Given the description of an element on the screen output the (x, y) to click on. 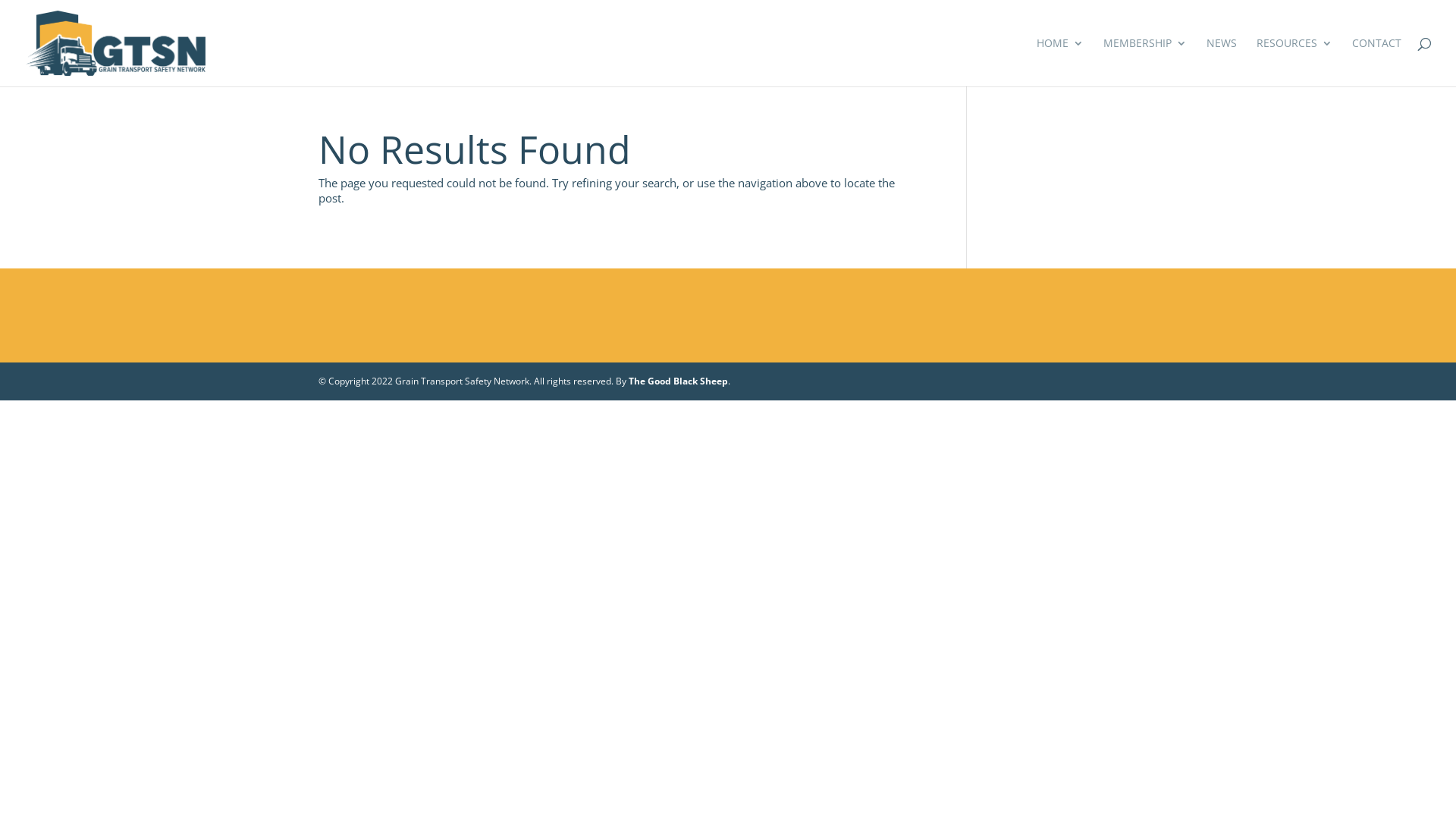
The Good Black Sheep Element type: text (678, 380)
CONTACT Element type: text (1376, 61)
HOME Element type: text (1059, 61)
MEMBERSHIP Element type: text (1144, 61)
RESOURCES Element type: text (1294, 61)
NEWS Element type: text (1221, 61)
